Given the description of an element on the screen output the (x, y) to click on. 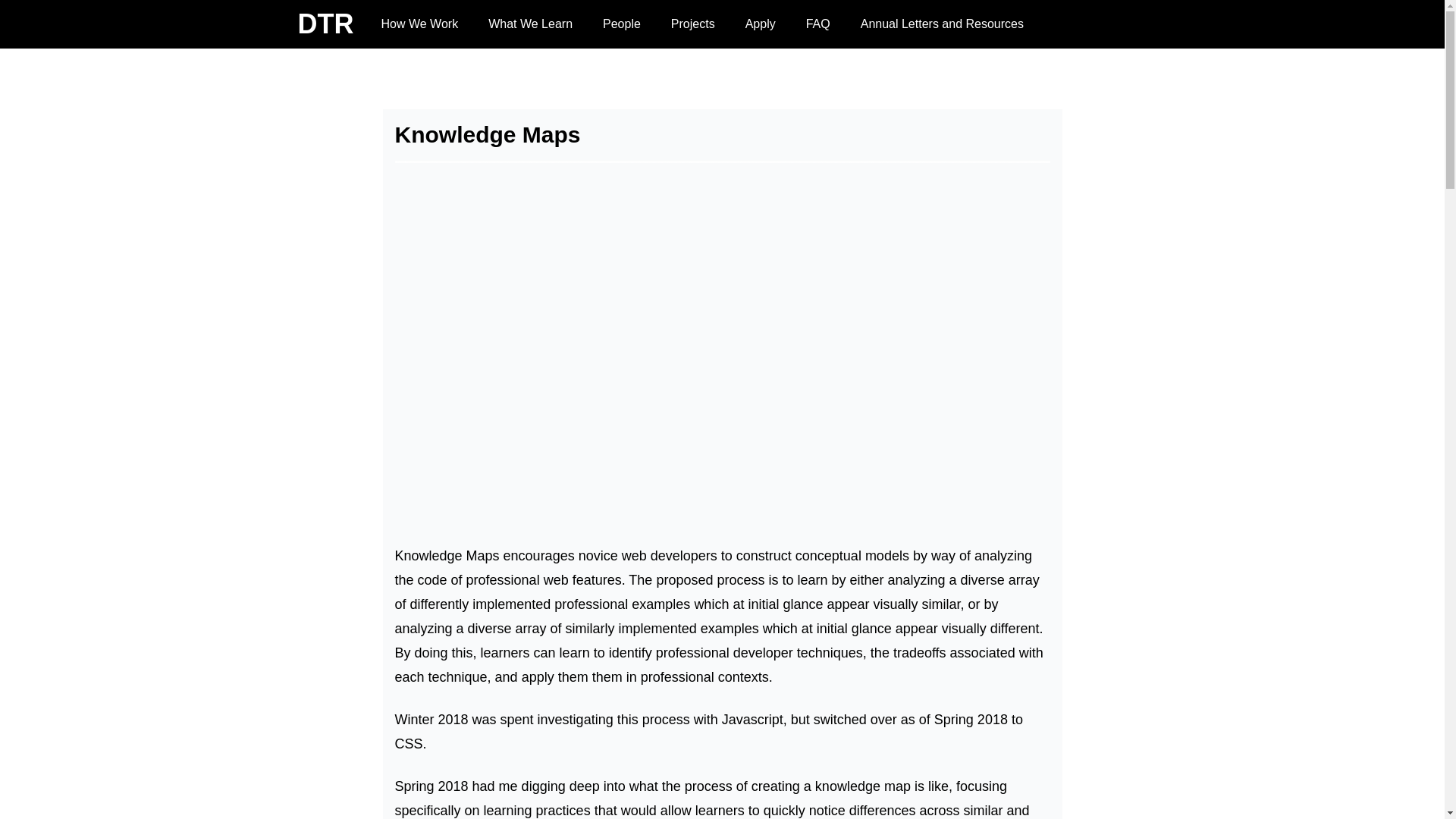
FAQ (818, 23)
Projects (692, 23)
People (621, 23)
How We Work (419, 23)
Annual Letters and Resources (941, 23)
What We Learn (529, 23)
Apply (760, 23)
DTR (325, 24)
